Given the description of an element on the screen output the (x, y) to click on. 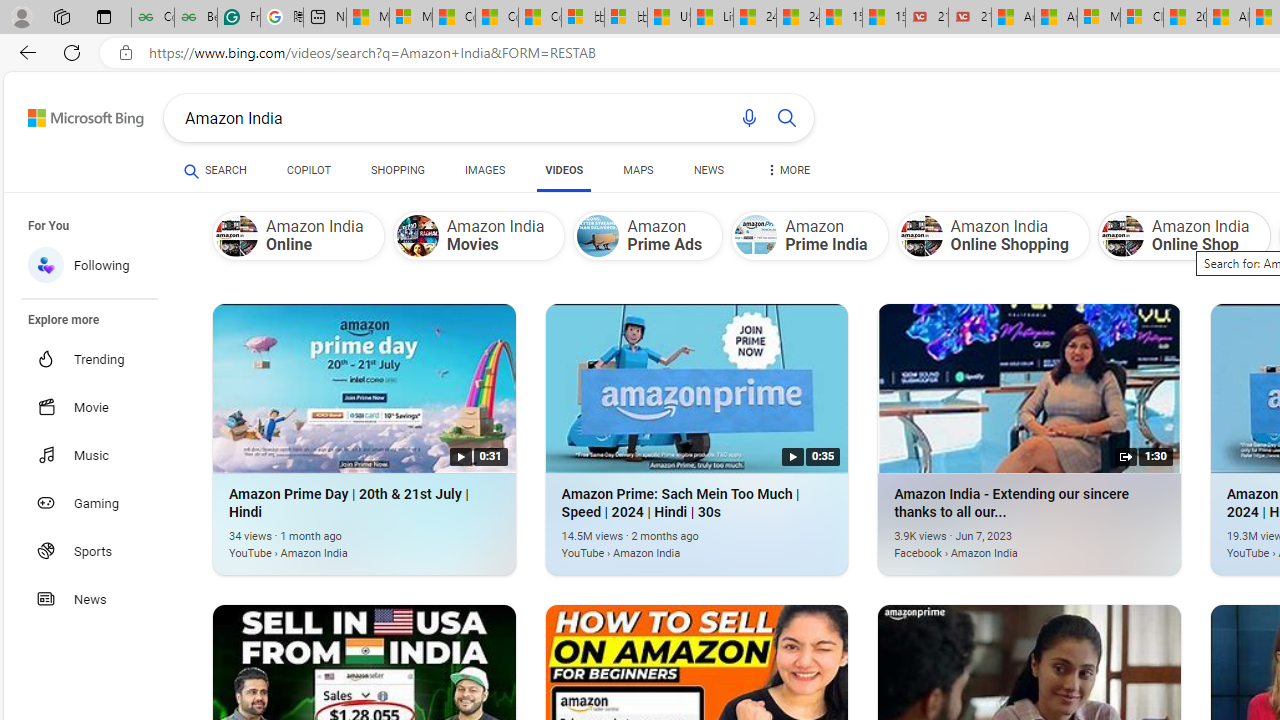
MORE (787, 173)
Lifestyle - MSN (712, 17)
Amazon Prime Ads (648, 235)
Amazon India Online Shop (1122, 236)
Movie (99, 406)
21 Movies That Outdid the Books They Were Based On (969, 17)
Amazon India Online Shop (1183, 235)
Amazon India Online Shopping (993, 235)
